Given the description of an element on the screen output the (x, y) to click on. 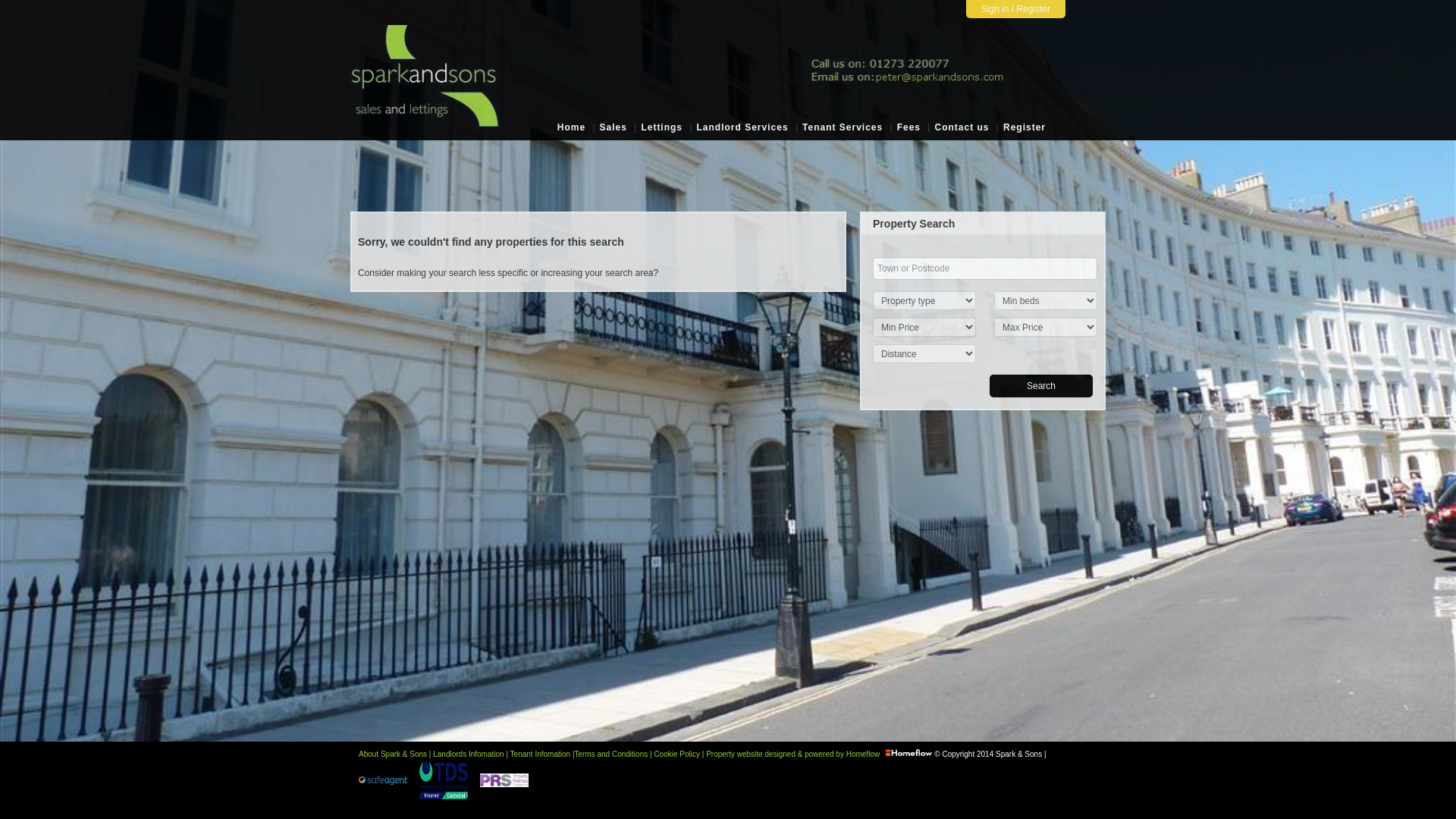
Register (1024, 127)
Tenant Services (842, 127)
Landlord Services (742, 127)
Contact us (961, 127)
Lettings (661, 127)
Sales (612, 127)
Search (1041, 385)
Home (571, 127)
Search (1041, 385)
Fees (909, 127)
